Given the description of an element on the screen output the (x, y) to click on. 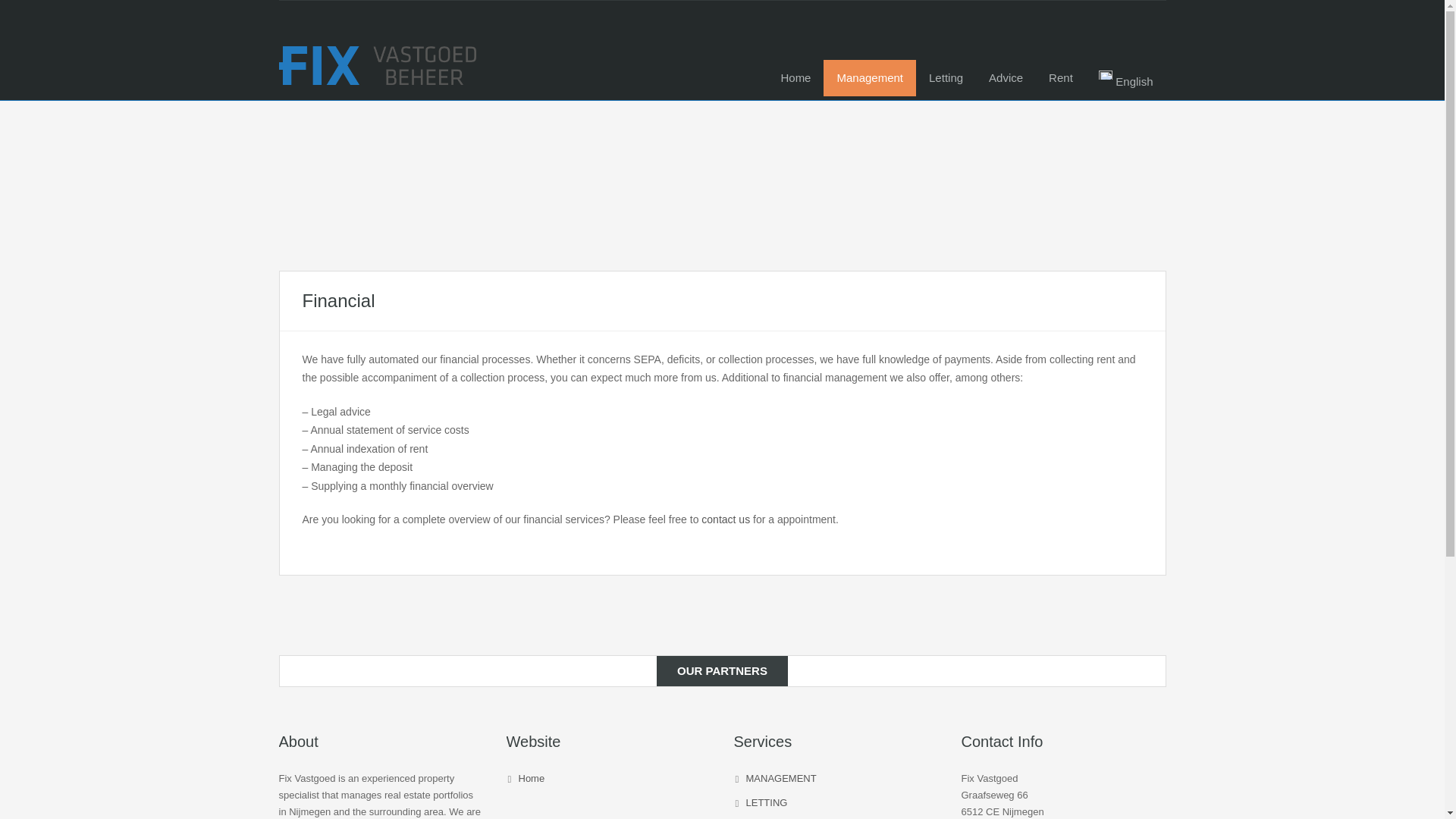
Management (869, 77)
Fix Vastgoed (377, 61)
English (1126, 79)
contact us (725, 519)
Home (795, 77)
Advice (1005, 77)
Letting (945, 77)
English (1126, 79)
Rent (1060, 77)
